Given the description of an element on the screen output the (x, y) to click on. 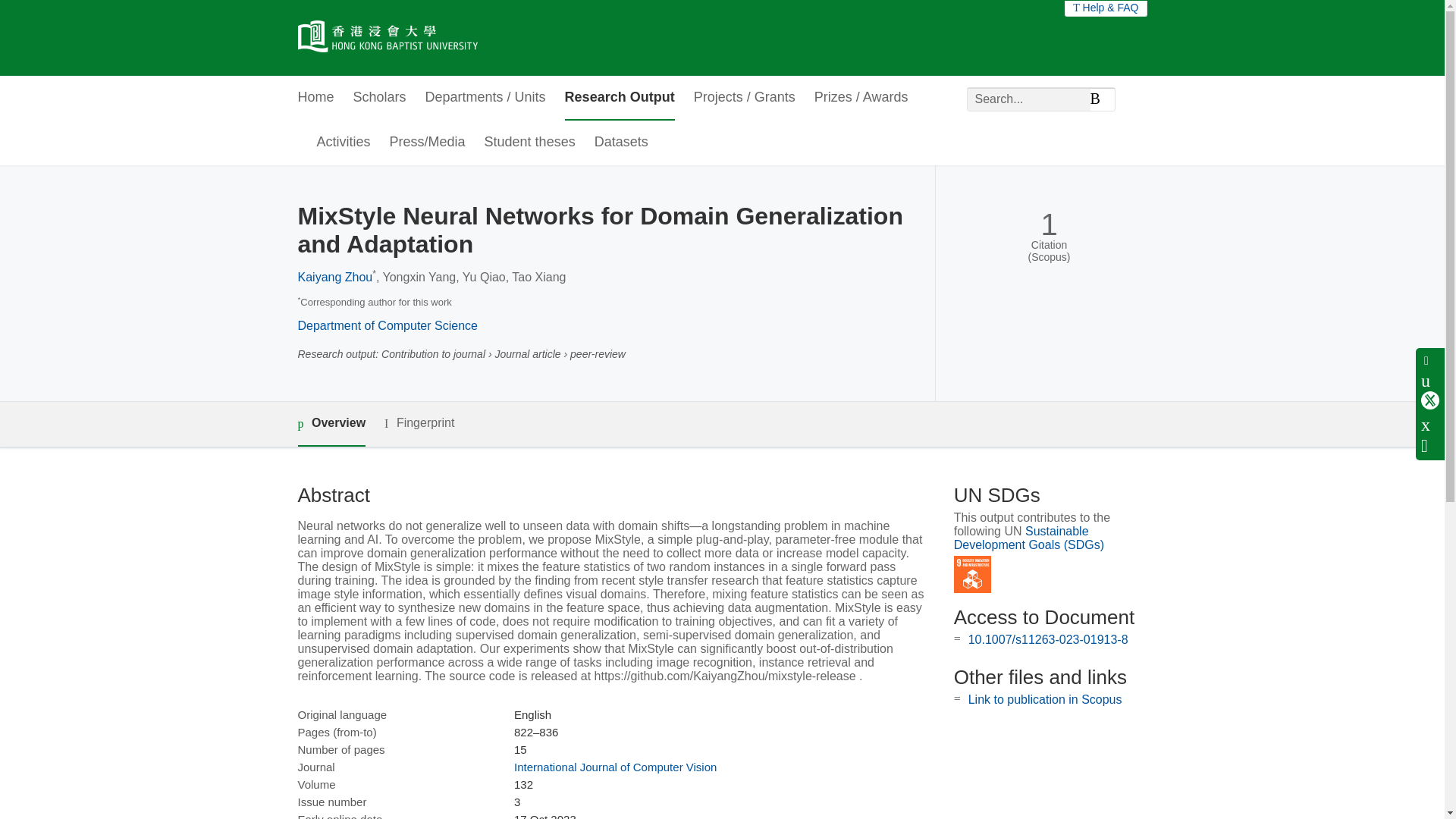
SDG 9 - Industry, Innovation, and Infrastructure (972, 574)
Link to publication in Scopus (1045, 698)
Fingerprint (419, 423)
Kaiyang Zhou (334, 277)
Overview (331, 424)
Activities (344, 142)
Department of Computer Science (387, 325)
Datasets (620, 142)
Research Output (619, 98)
Scholars (379, 98)
